Given the description of an element on the screen output the (x, y) to click on. 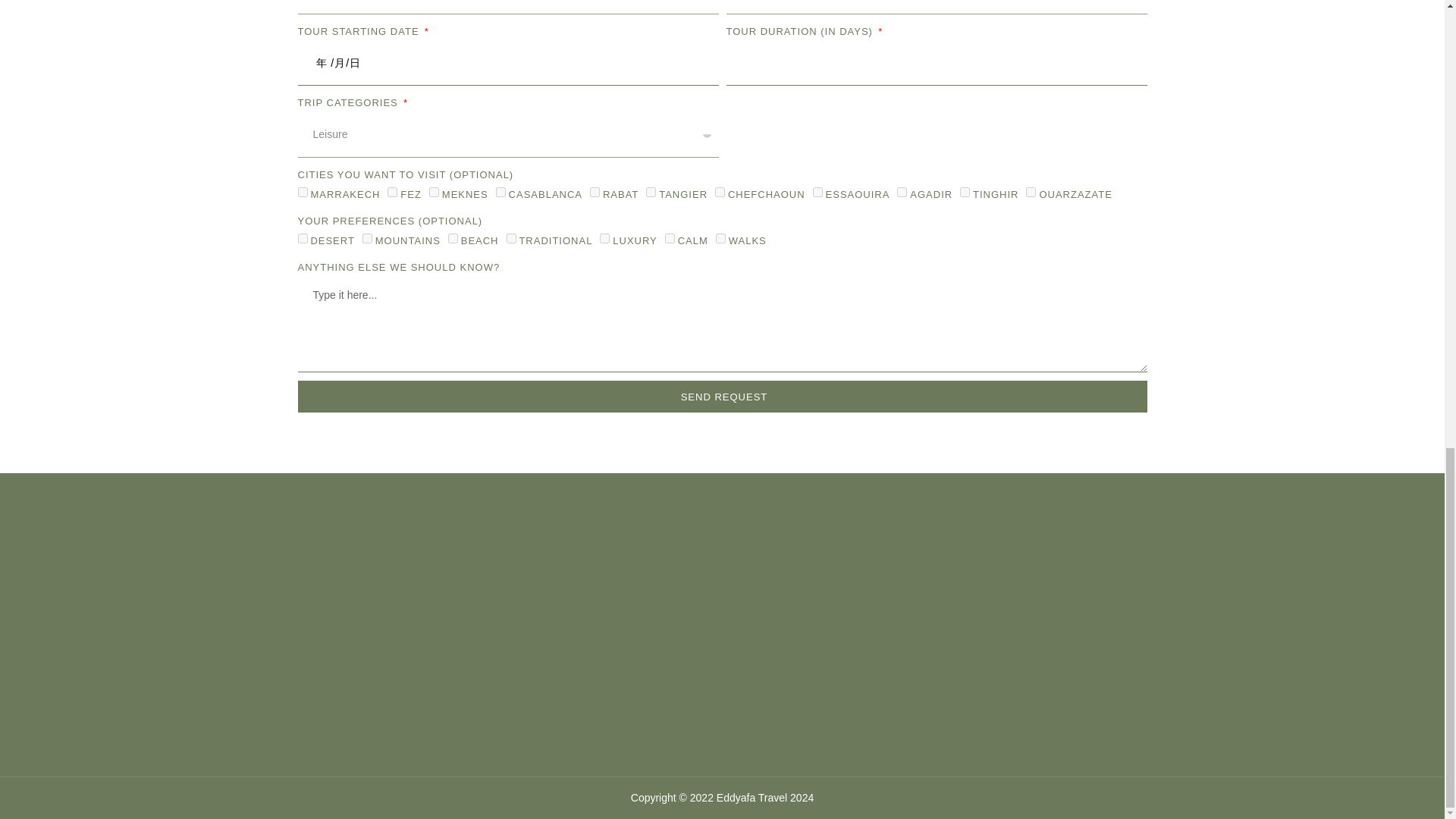
Desert (302, 238)
Rabat (594, 192)
Essaouira (817, 192)
Marrakech (302, 192)
Tinghir (964, 192)
SEND REQUEST (722, 396)
Ouarzazate (1030, 192)
Fez (392, 192)
Agadir (901, 192)
Casablanca (500, 192)
Chefchaoun (719, 192)
Meknes (434, 192)
Tangier (651, 192)
